Given the description of an element on the screen output the (x, y) to click on. 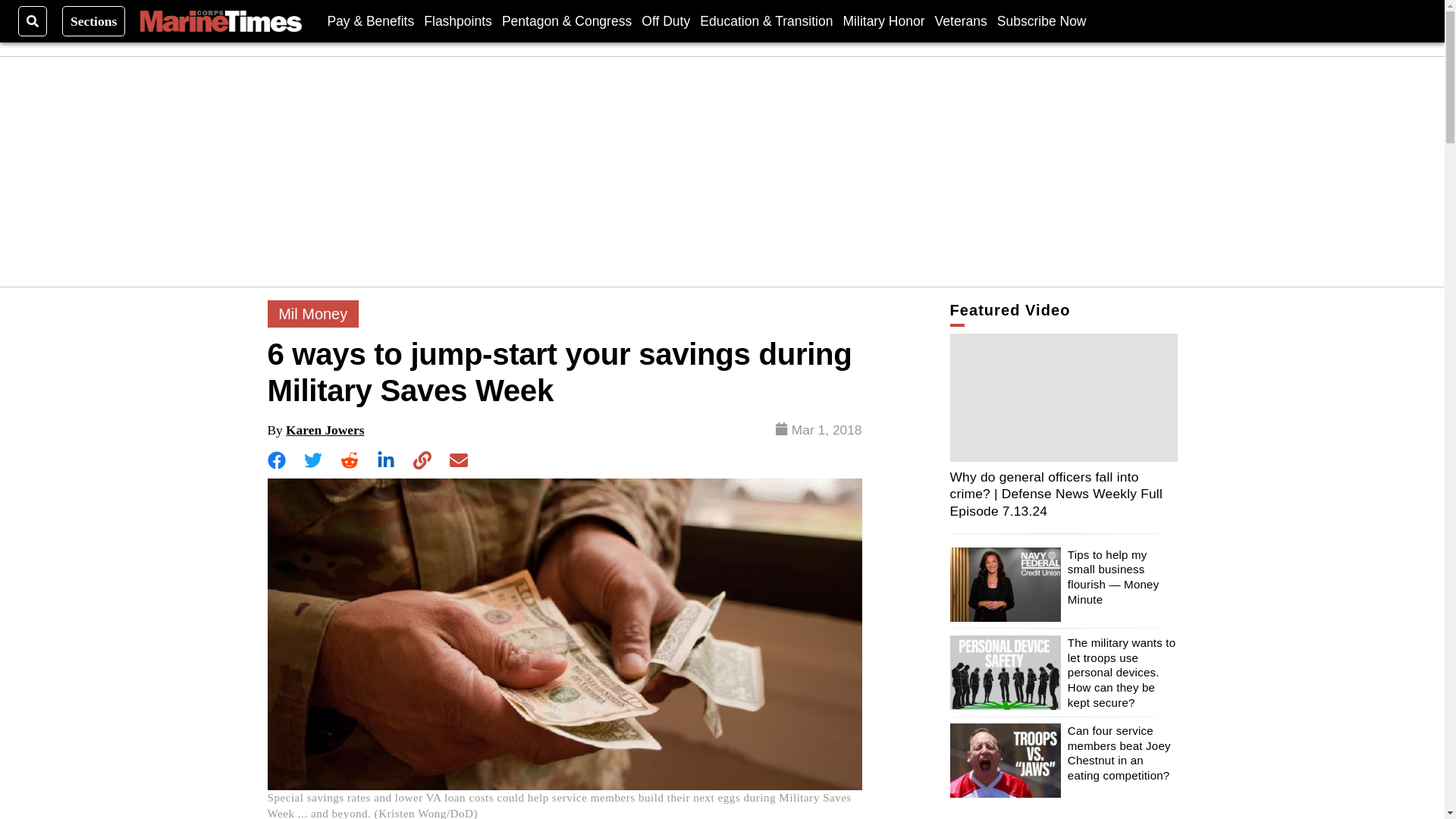
Military Honor (883, 20)
Veterans (960, 20)
Marine Corps Times Logo (220, 20)
Flashpoints (457, 20)
Off Duty (666, 20)
Sections (93, 20)
